Given the description of an element on the screen output the (x, y) to click on. 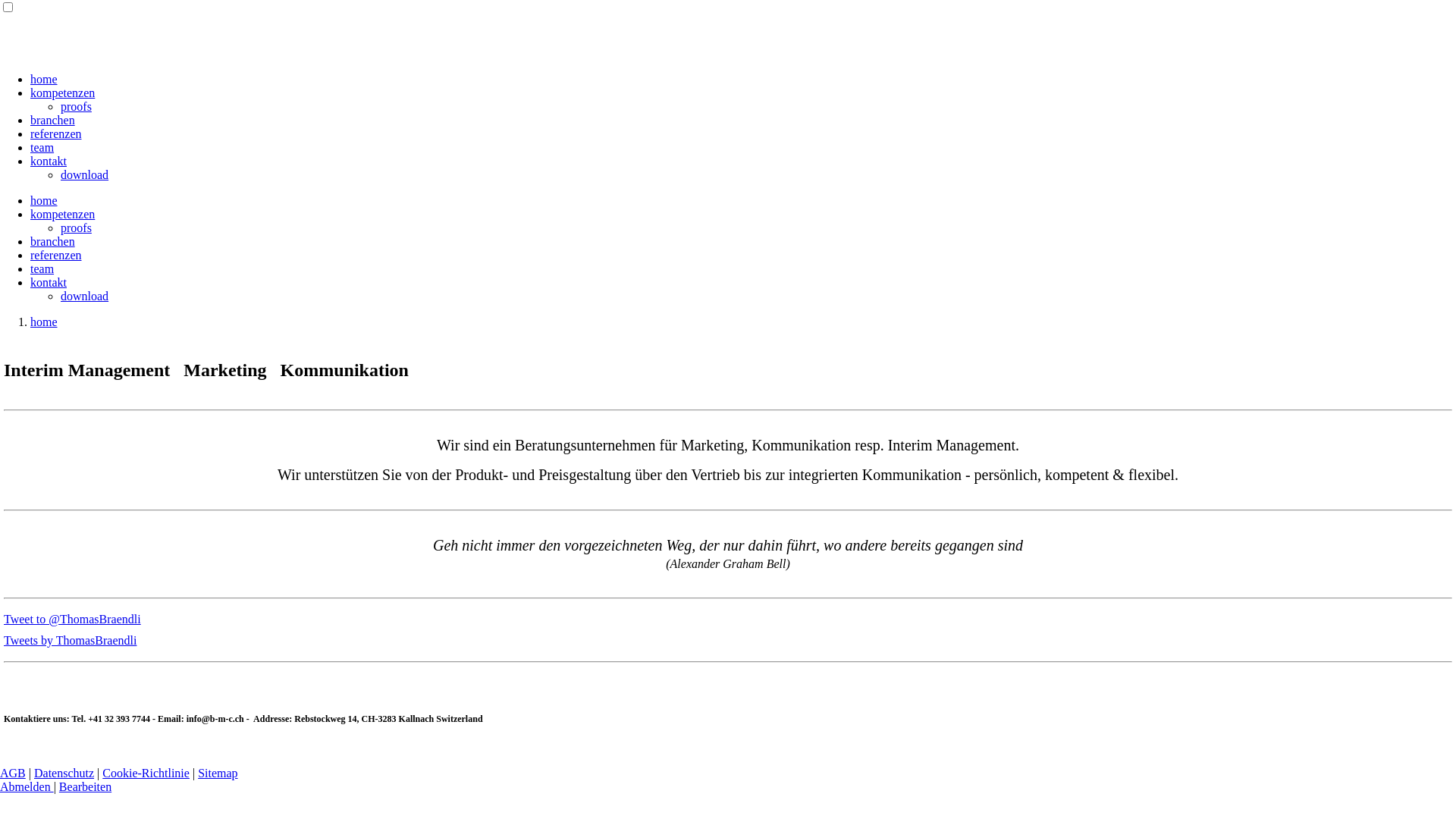
proofs Element type: text (75, 106)
Datenschutz Element type: text (64, 772)
Sitemap Element type: text (217, 772)
AGB Element type: text (12, 772)
referenzen Element type: text (55, 254)
download Element type: text (84, 174)
team Element type: text (41, 147)
branchen Element type: text (52, 241)
branchen Element type: text (52, 119)
team Element type: text (41, 268)
kompetenzen Element type: text (62, 213)
Cookie-Richtlinie Element type: text (145, 772)
home Element type: text (43, 321)
Bearbeiten Element type: text (85, 786)
Abmelden Element type: text (26, 786)
home Element type: text (43, 78)
referenzen Element type: text (55, 133)
Tweets by ThomasBraendli Element type: text (69, 639)
kontakt Element type: text (48, 160)
download Element type: text (84, 295)
kontakt Element type: text (48, 282)
home Element type: text (43, 200)
kompetenzen Element type: text (62, 92)
Tweet to @ThomasBraendli Element type: text (72, 618)
proofs Element type: text (75, 227)
